Given the description of an element on the screen output the (x, y) to click on. 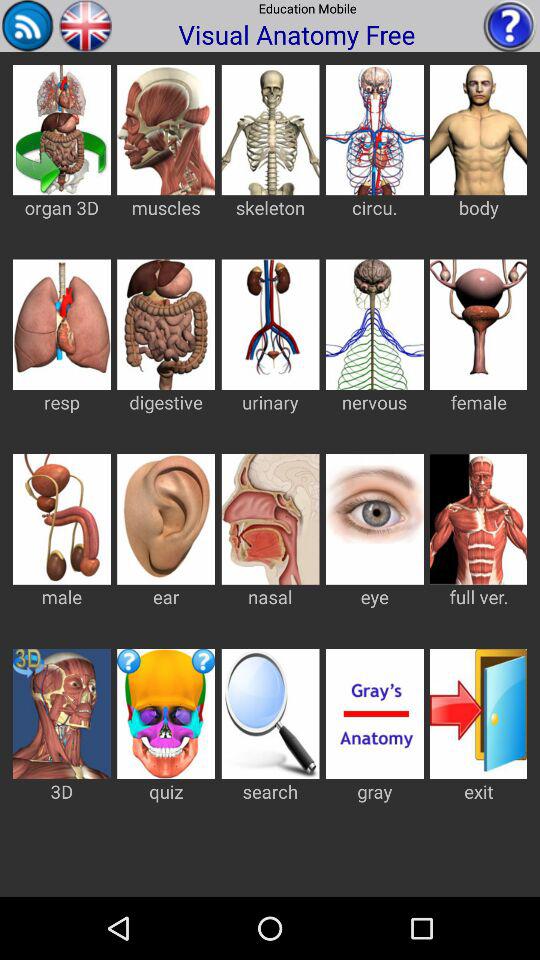
wi-fi button (27, 25)
